Given the description of an element on the screen output the (x, y) to click on. 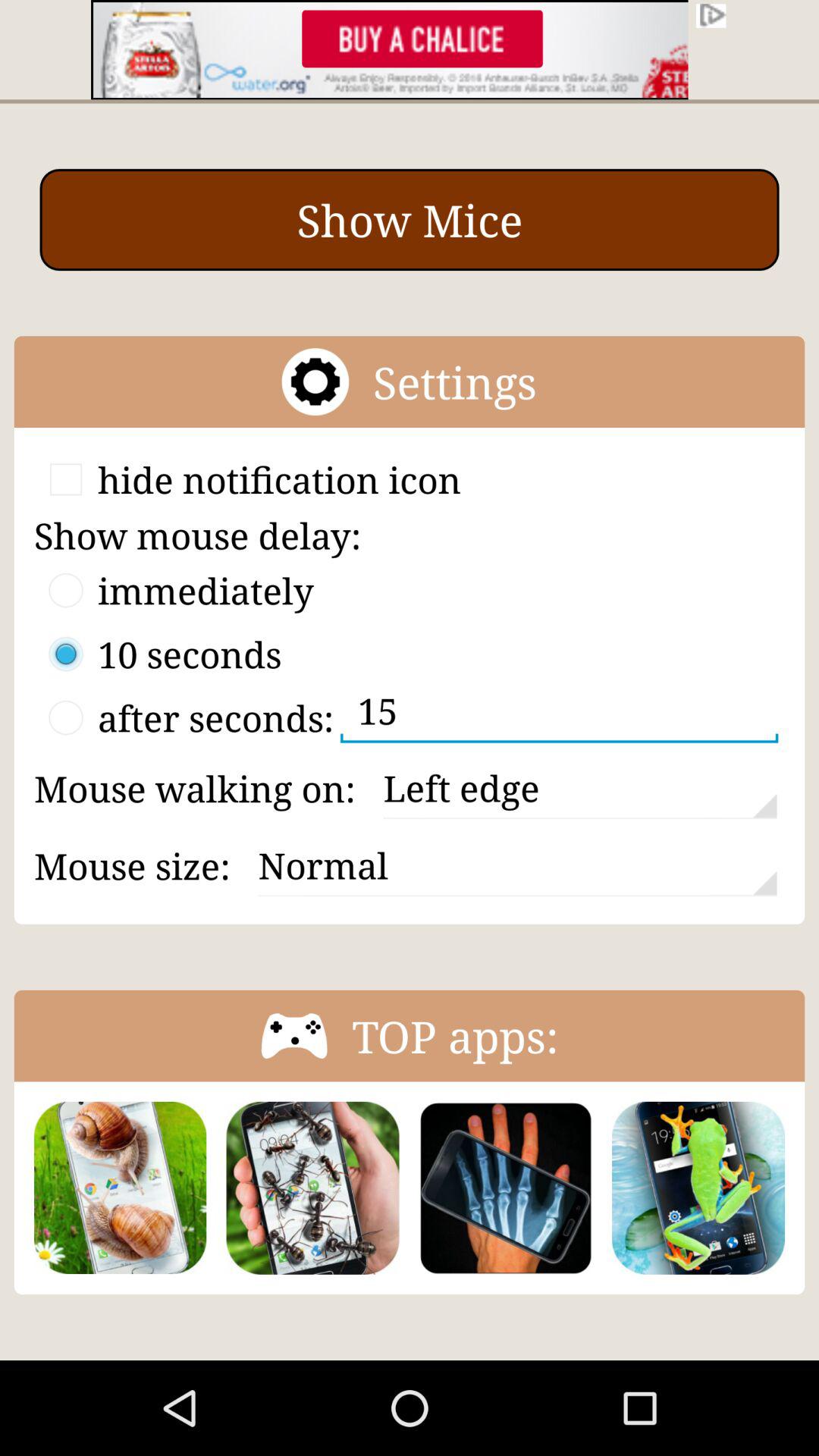
add banner (409, 49)
